Given the description of an element on the screen output the (x, y) to click on. 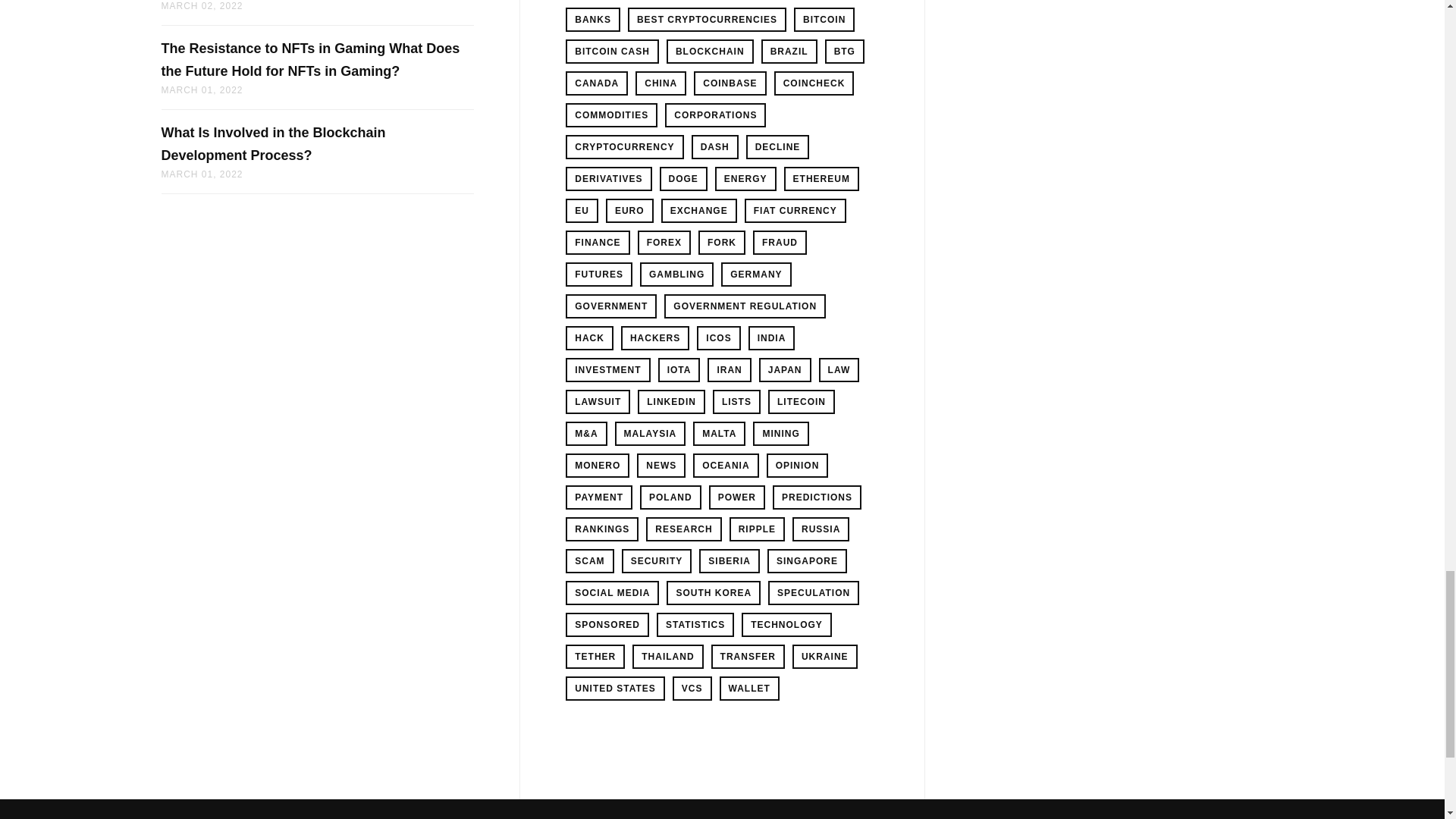
CANADA (596, 83)
BLOCKCHAIN (710, 51)
What Is Involved in the Blockchain Development Process? (272, 144)
COINCHECK (814, 83)
COINBASE (729, 83)
BEST CRYPTOCURRENCIES (706, 19)
BRAZIL (788, 51)
CHINA (659, 83)
BTG (844, 51)
BITCOIN CASH (612, 51)
BANKS (593, 19)
BITCOIN (823, 19)
